Given the description of an element on the screen output the (x, y) to click on. 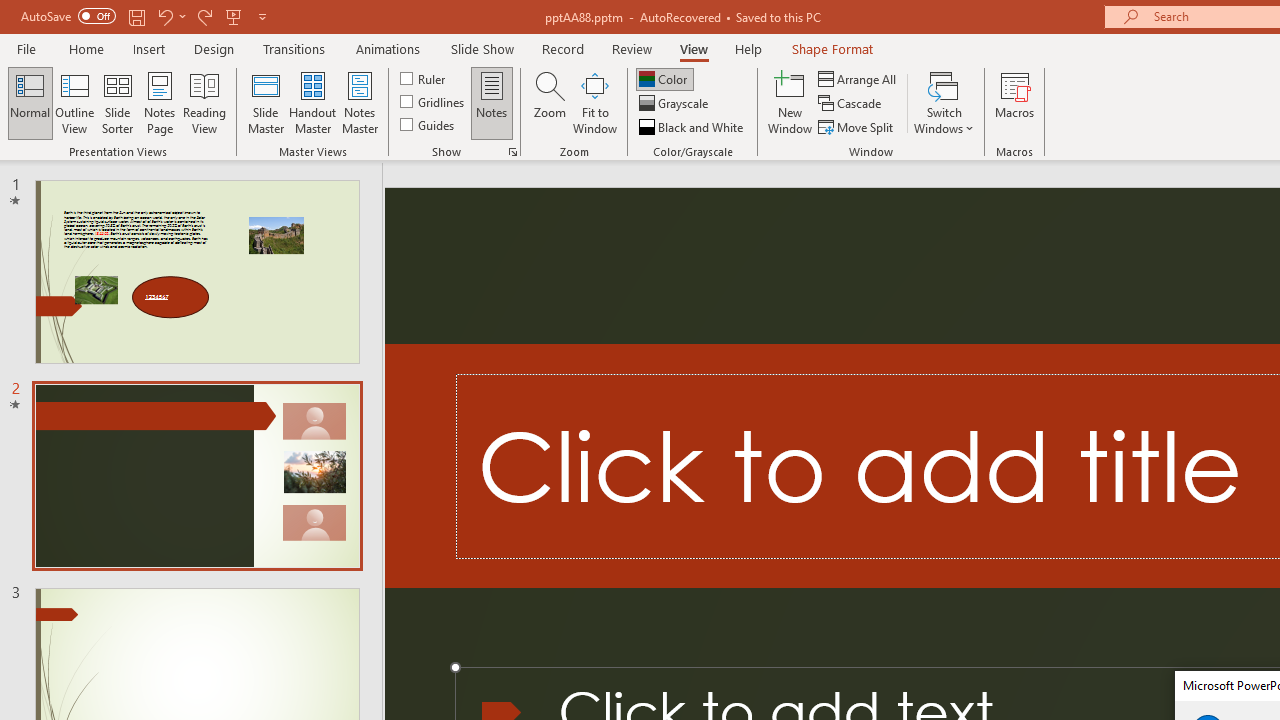
Guides (428, 124)
Fit to Window (594, 102)
Gridlines (433, 101)
Notes Master (360, 102)
Arrange All (858, 78)
Grayscale (675, 103)
Switch Windows (943, 102)
Black and White (693, 126)
